Given the description of an element on the screen output the (x, y) to click on. 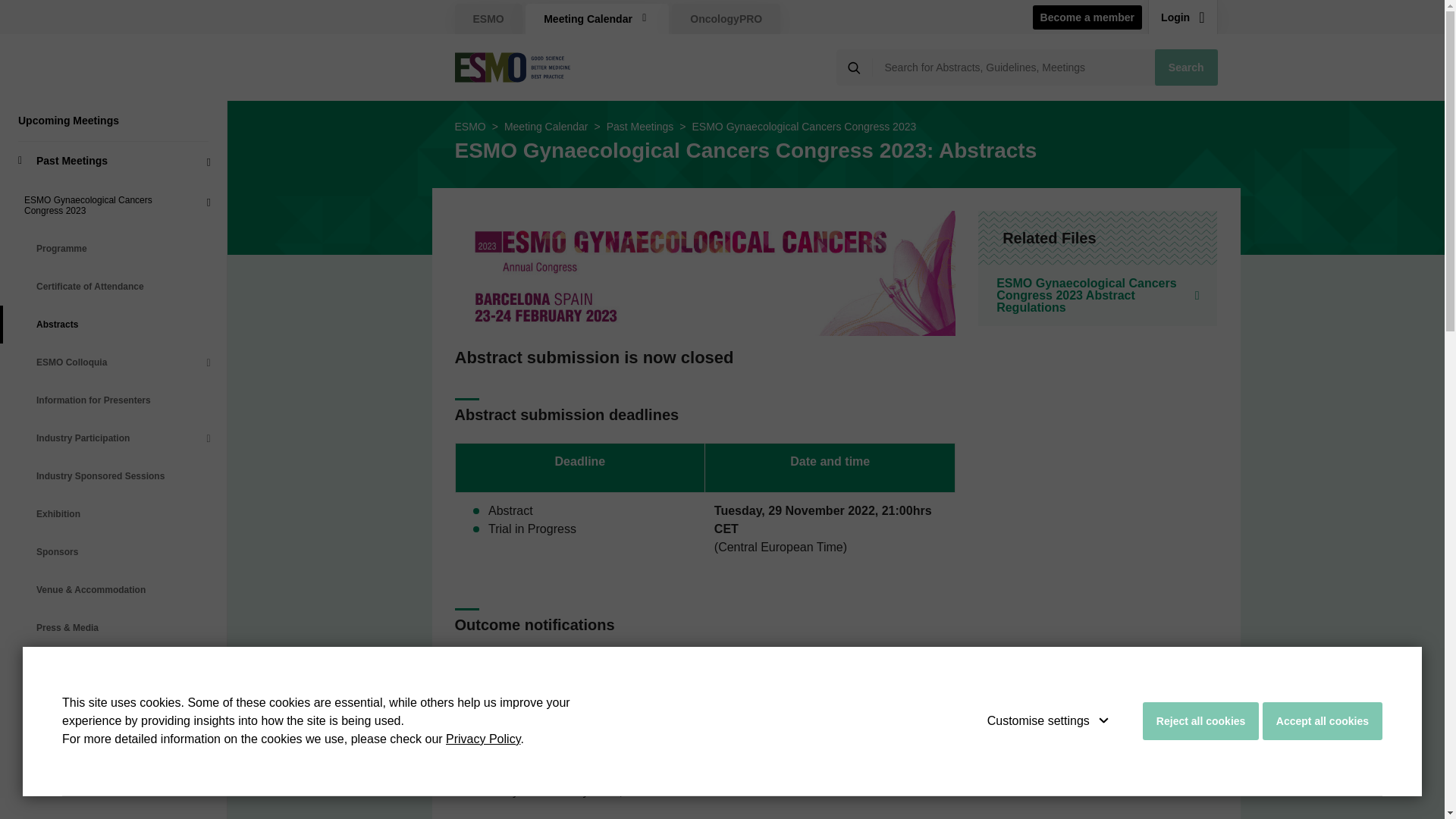
ESMO (488, 19)
Upcoming Meetings (113, 120)
Sponsors (113, 551)
Programme (113, 248)
Industry Participation (113, 438)
Exhibition (113, 514)
Search (1185, 67)
Information for Presenters (113, 400)
Certificate of Attendance (113, 286)
Upcoming Meetings (113, 120)
